Given the description of an element on the screen output the (x, y) to click on. 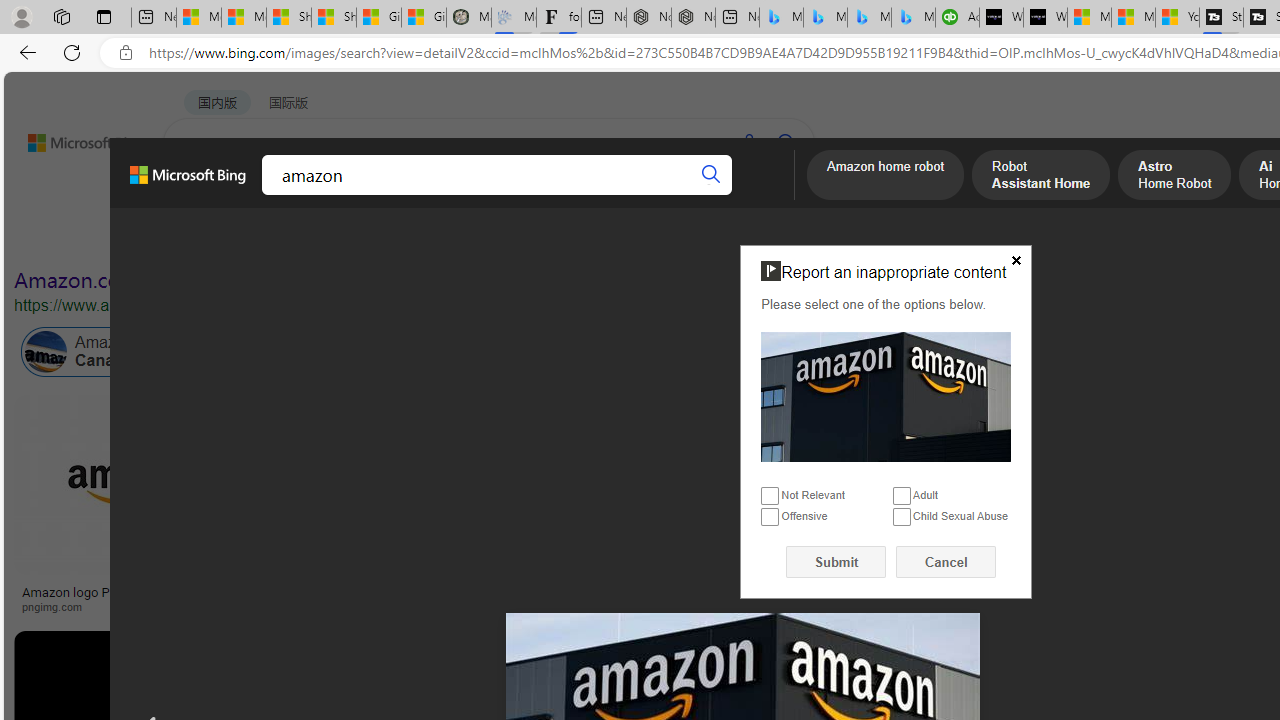
WEB (201, 195)
Kindle Paperwhite Case (1183, 524)
Submit (836, 561)
WEB (201, 195)
Not Relevant (770, 496)
usatoday.com (710, 606)
Invisible focusable element for fixing accessibility issue (749, 249)
MORE (779, 195)
Amazon Canada Online (114, 351)
Gilma and Hector both pose tropical trouble for Hawaii (423, 17)
Echo Dot 4th Gen (1183, 465)
pngimg.com (58, 605)
